Given the description of an element on the screen output the (x, y) to click on. 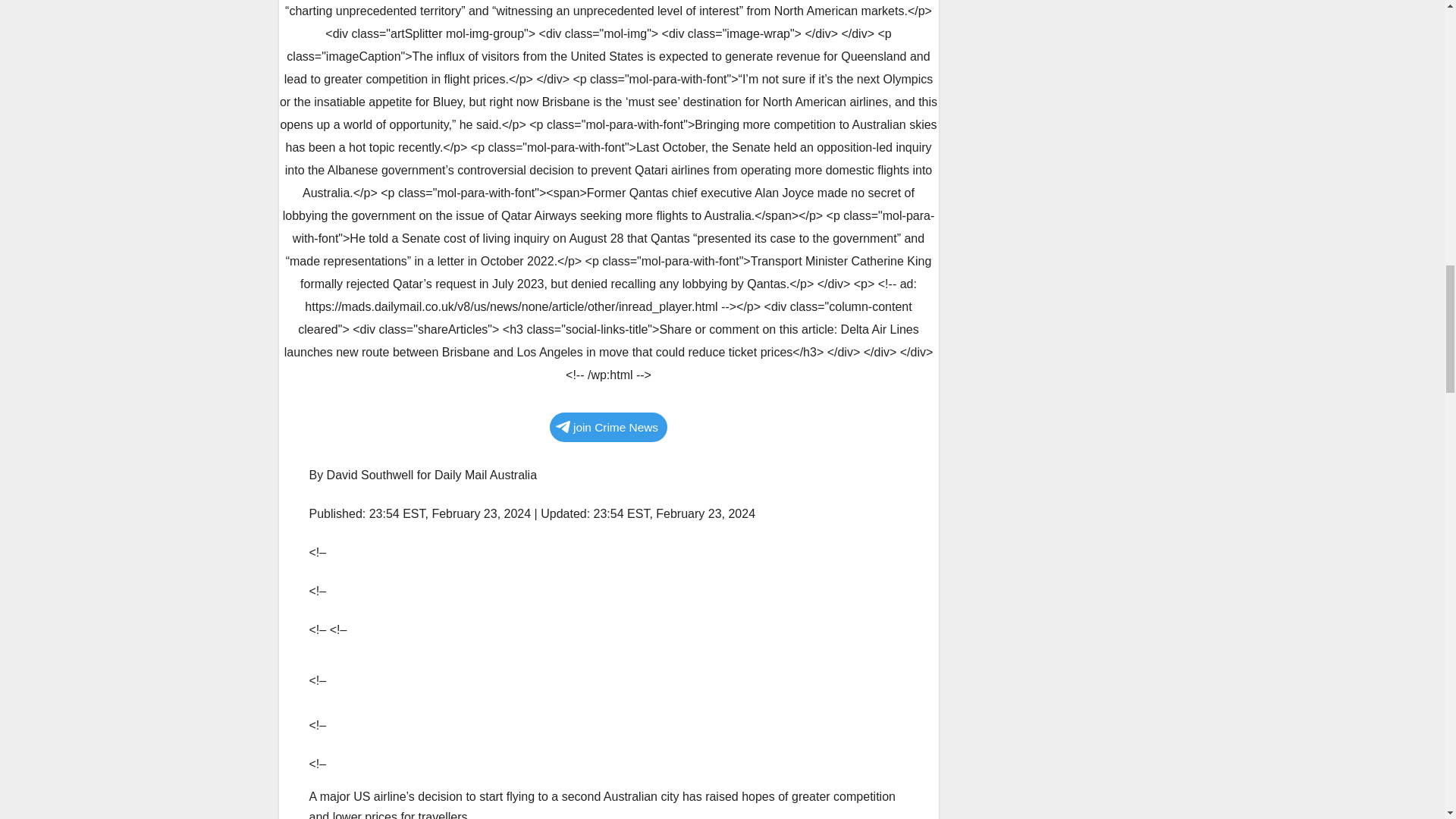
join Crime News (608, 427)
